Given the description of an element on the screen output the (x, y) to click on. 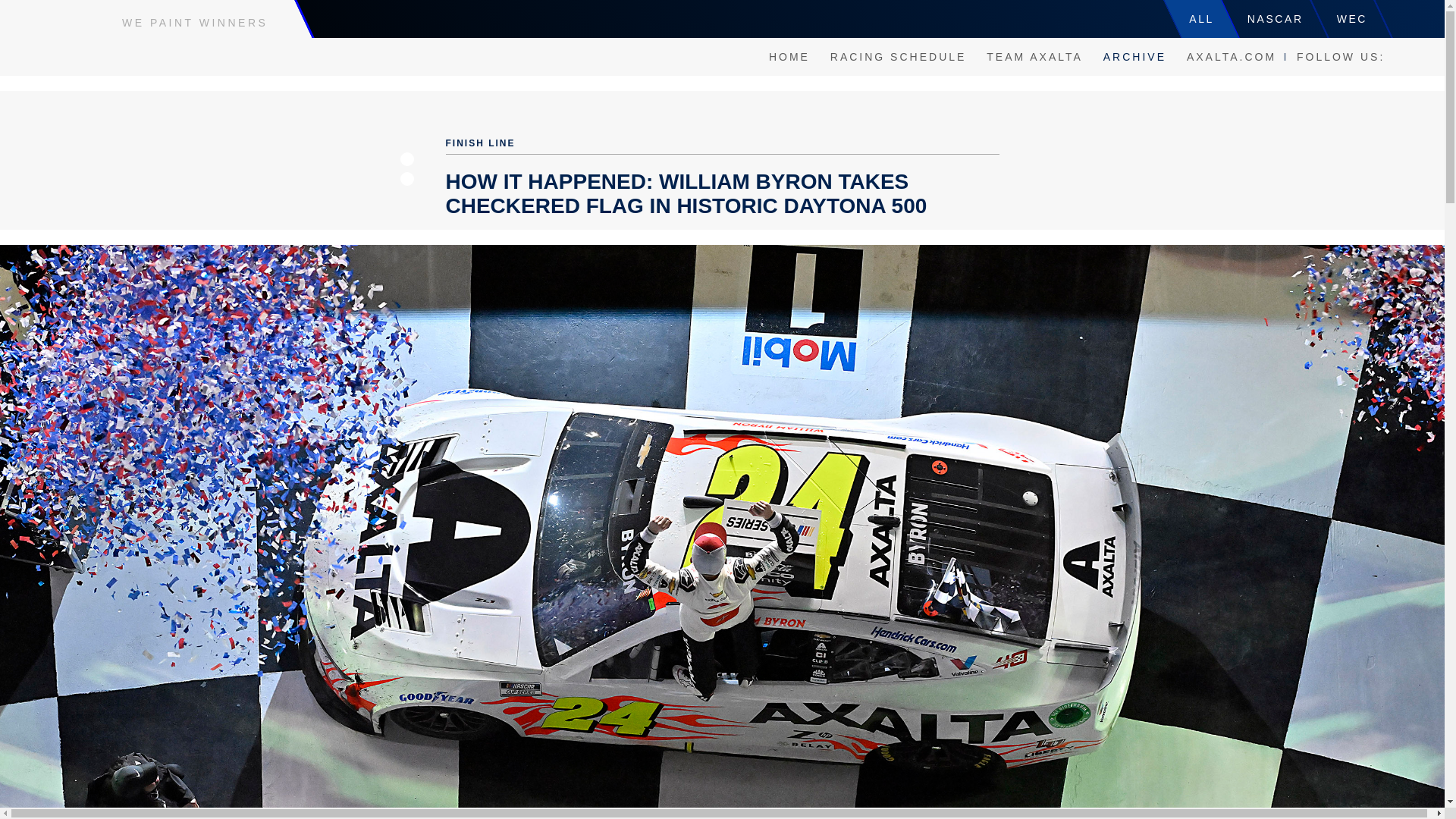
FINISH LINE (480, 143)
AXALTA.COM (1231, 56)
Share on Facebook (406, 159)
NASCAR (1275, 18)
ARCHIVE (1134, 56)
WEC (1352, 18)
ALL (1201, 18)
TEAM AXALTA (1035, 56)
RACING SCHEDULE (897, 56)
HOME (788, 56)
Share on Twitter (406, 178)
